Given the description of an element on the screen output the (x, y) to click on. 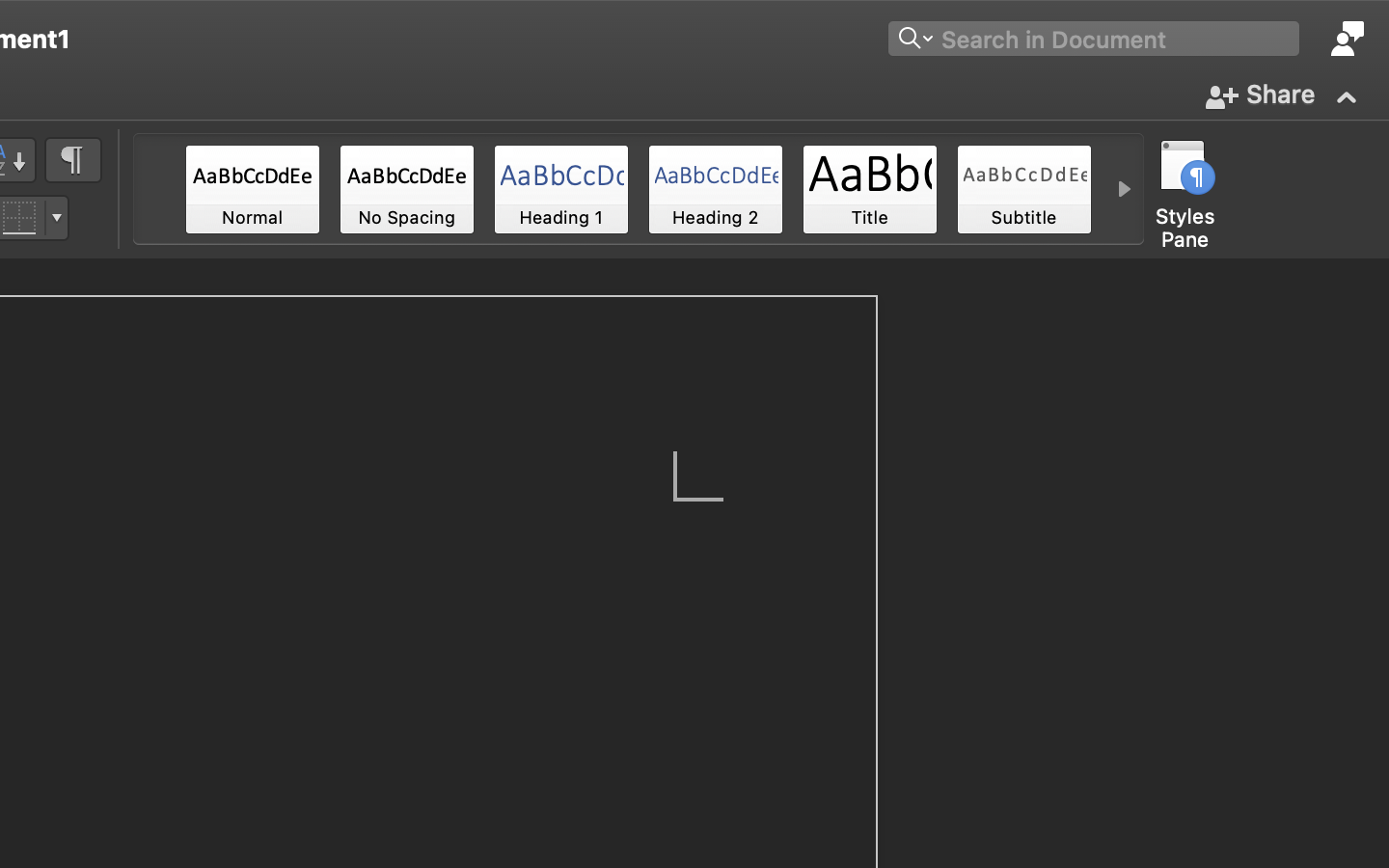
0 Element type: AXRadioButton (252, 188)
